Given the description of an element on the screen output the (x, y) to click on. 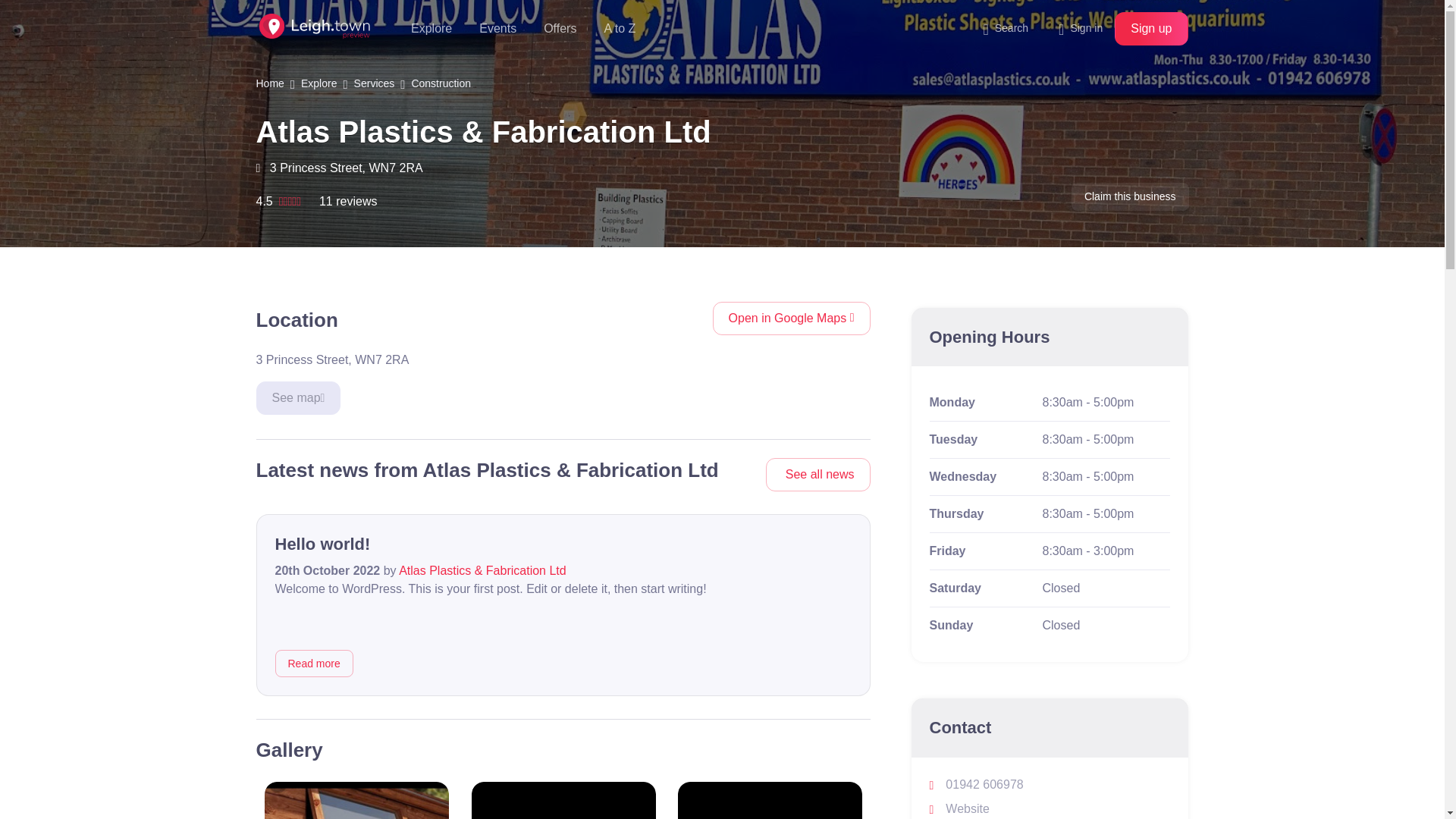
A to Z (619, 28)
Sign up (1151, 28)
See all news (817, 474)
Open in Google Maps (791, 318)
Home (269, 82)
Sign in (1080, 28)
Events (497, 28)
Search (1011, 28)
Services (373, 82)
Explore (431, 28)
Offers (559, 28)
Website (960, 808)
Read more (313, 664)
Construction (440, 82)
Claim this business (1130, 196)
